Given the description of an element on the screen output the (x, y) to click on. 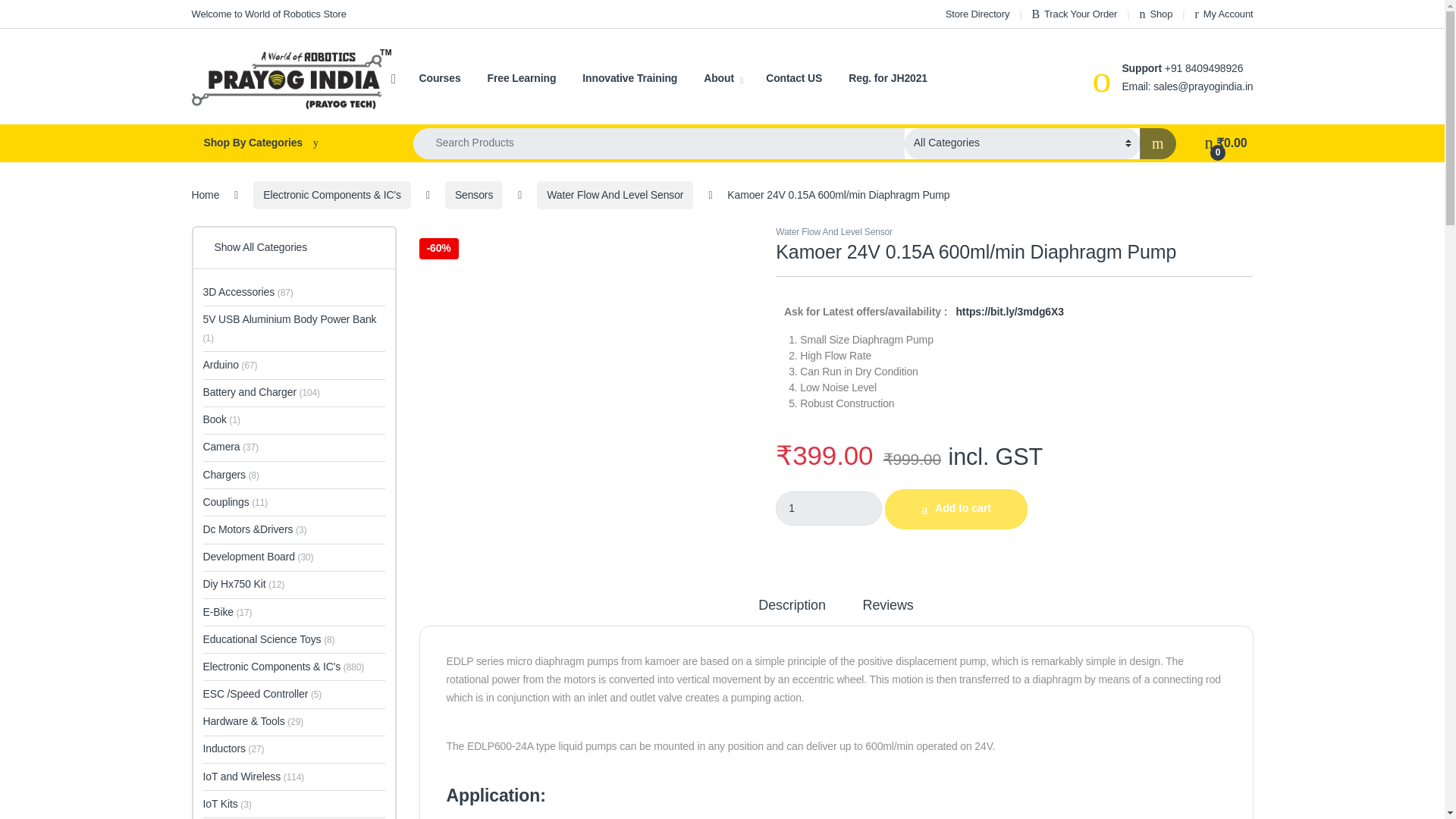
Welcome to World of Robotics Store (268, 13)
Track Your Order (1073, 13)
1 (829, 508)
Welcome to World of Robotics Store (268, 13)
Store Directory (977, 13)
Shop (1156, 13)
My Account (1224, 13)
Store Directory (977, 13)
Track Your Order (1073, 13)
My Account (1224, 13)
